Given the description of an element on the screen output the (x, y) to click on. 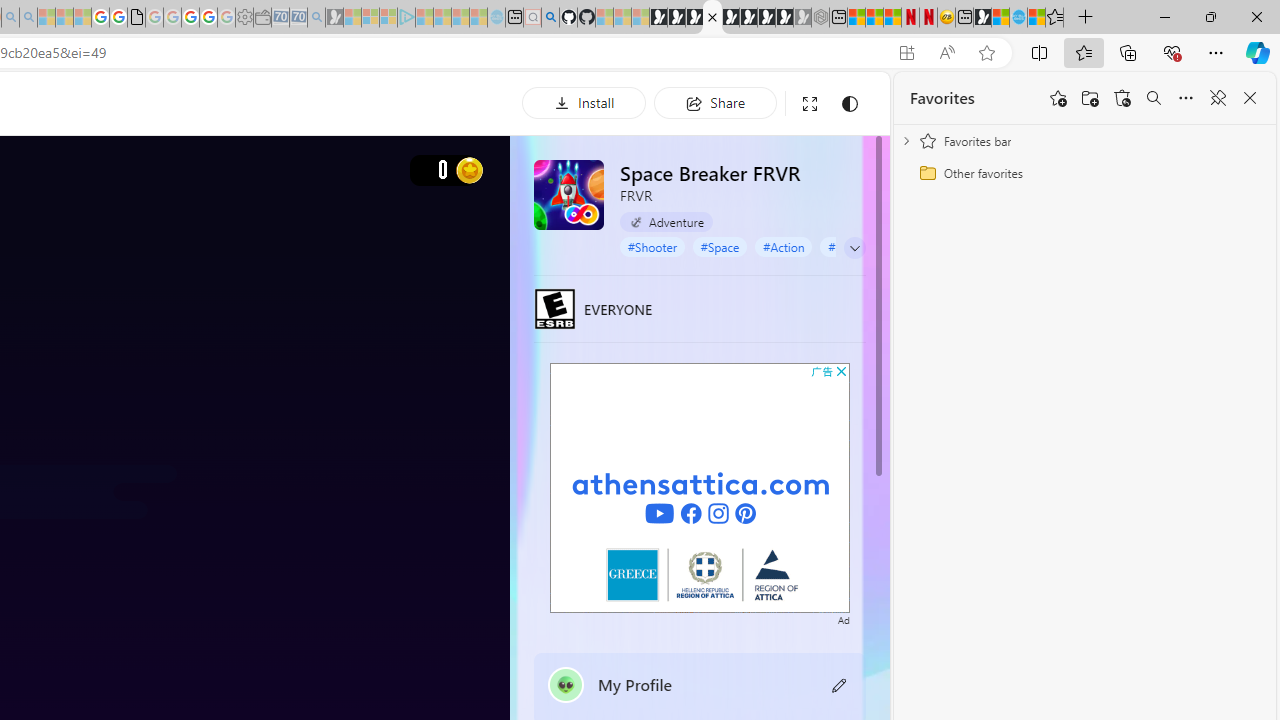
Cheap Car Rentals - Save70.com - Sleeping (298, 17)
#Action (783, 246)
#Sci Fi (845, 246)
google_privacy_policy_zh-CN.pdf (136, 17)
EVERYONE (554, 308)
Full screen (810, 103)
